Given the description of an element on the screen output the (x, y) to click on. 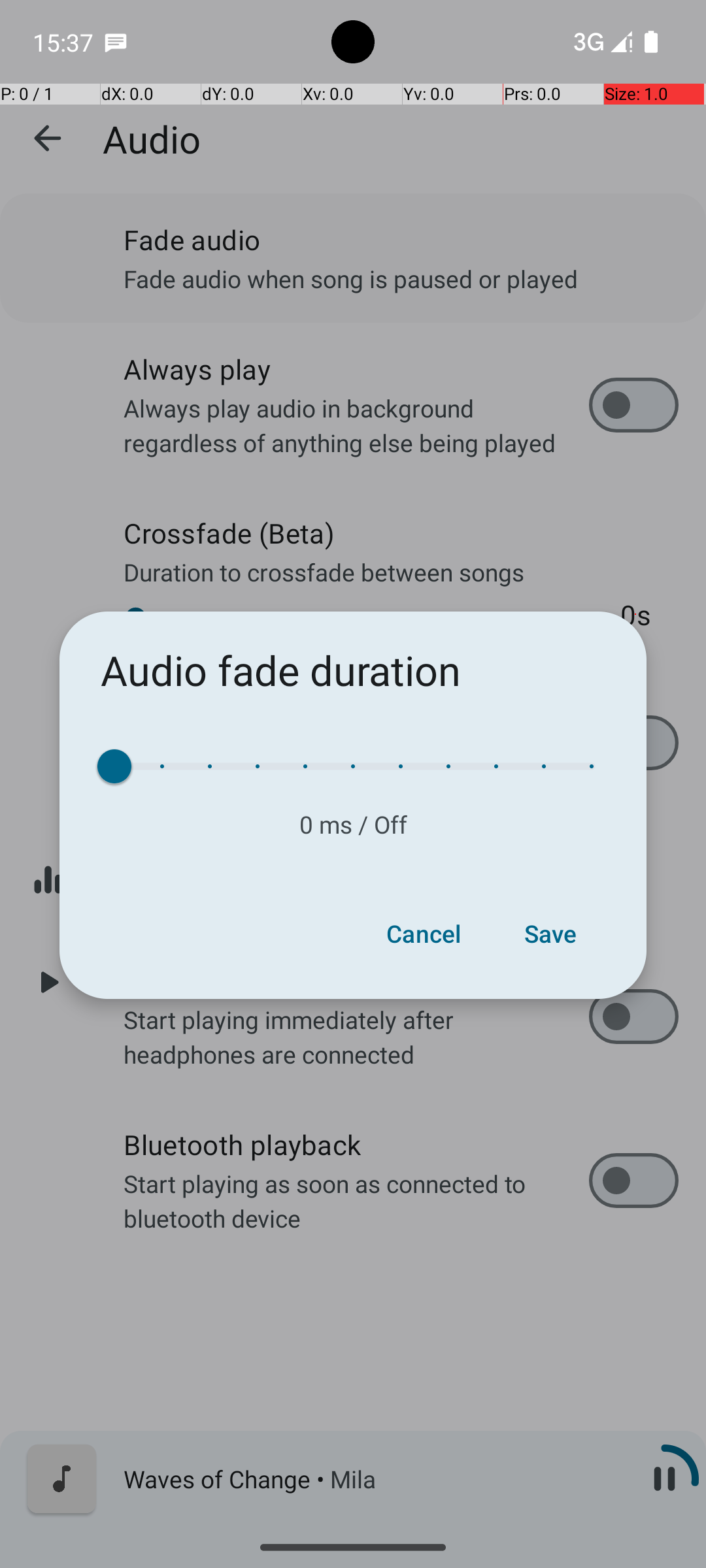
Audio fade duration Element type: android.widget.TextView (280, 669)
0 ms / Off Element type: android.widget.TextView (352, 823)
Value, 0 Element type: android.widget.SeekBar (120, 766)
15:37 Element type: android.widget.TextView (64, 41)
